Given the description of an element on the screen output the (x, y) to click on. 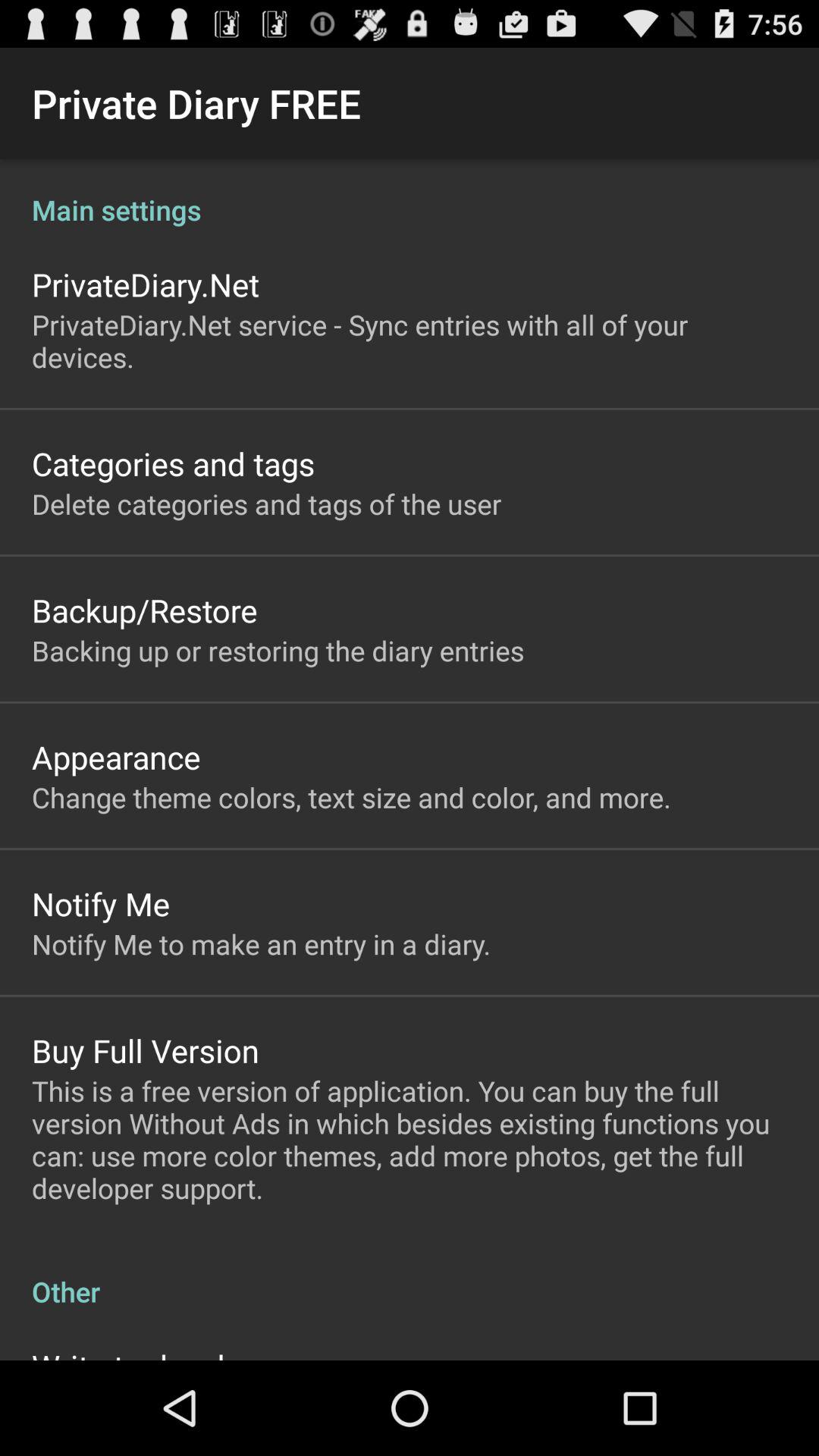
swipe until the write to developer item (159, 1352)
